Given the description of an element on the screen output the (x, y) to click on. 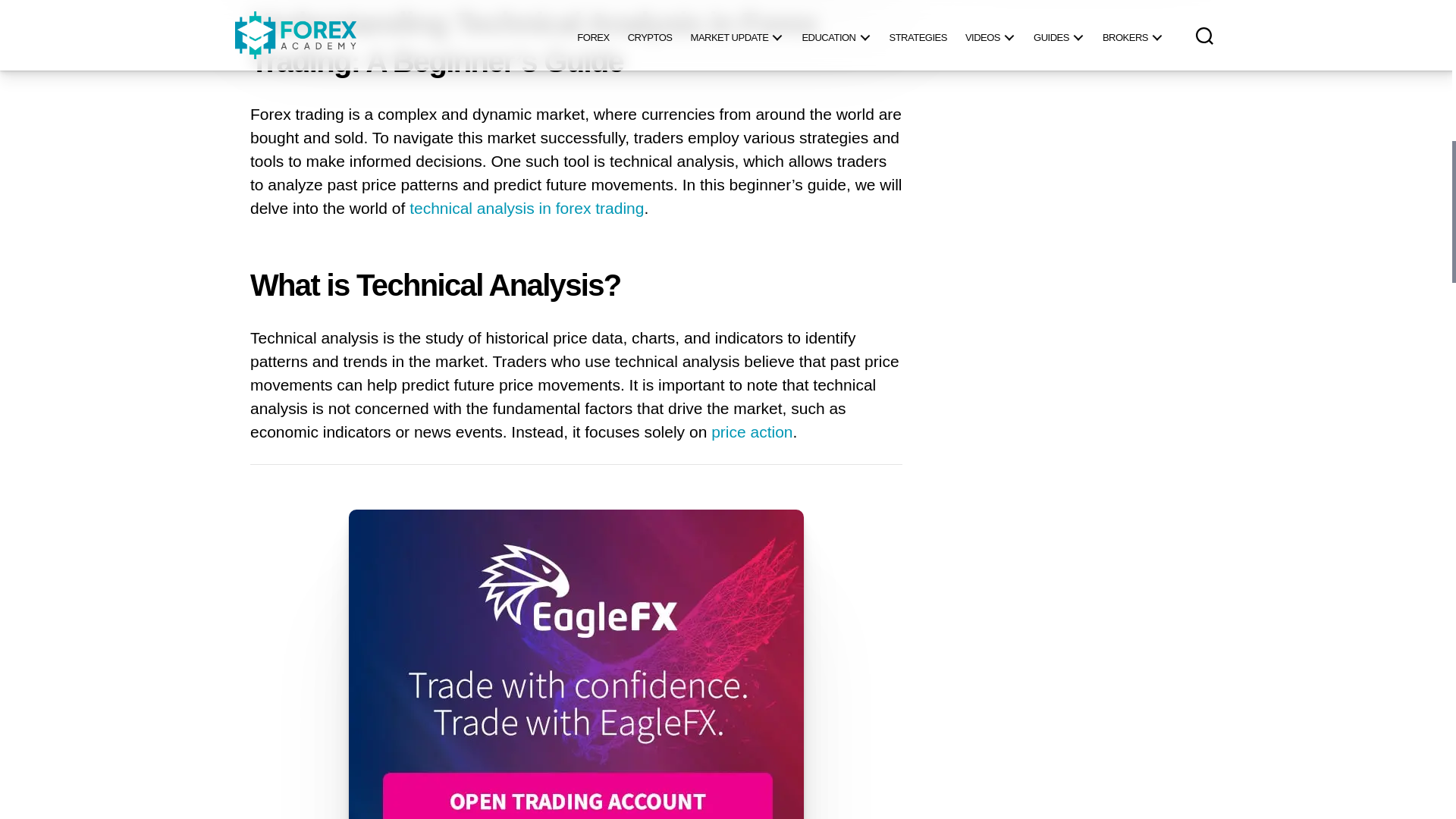
technical analysis in forex trading (526, 208)
price action (751, 432)
